Given the description of an element on the screen output the (x, y) to click on. 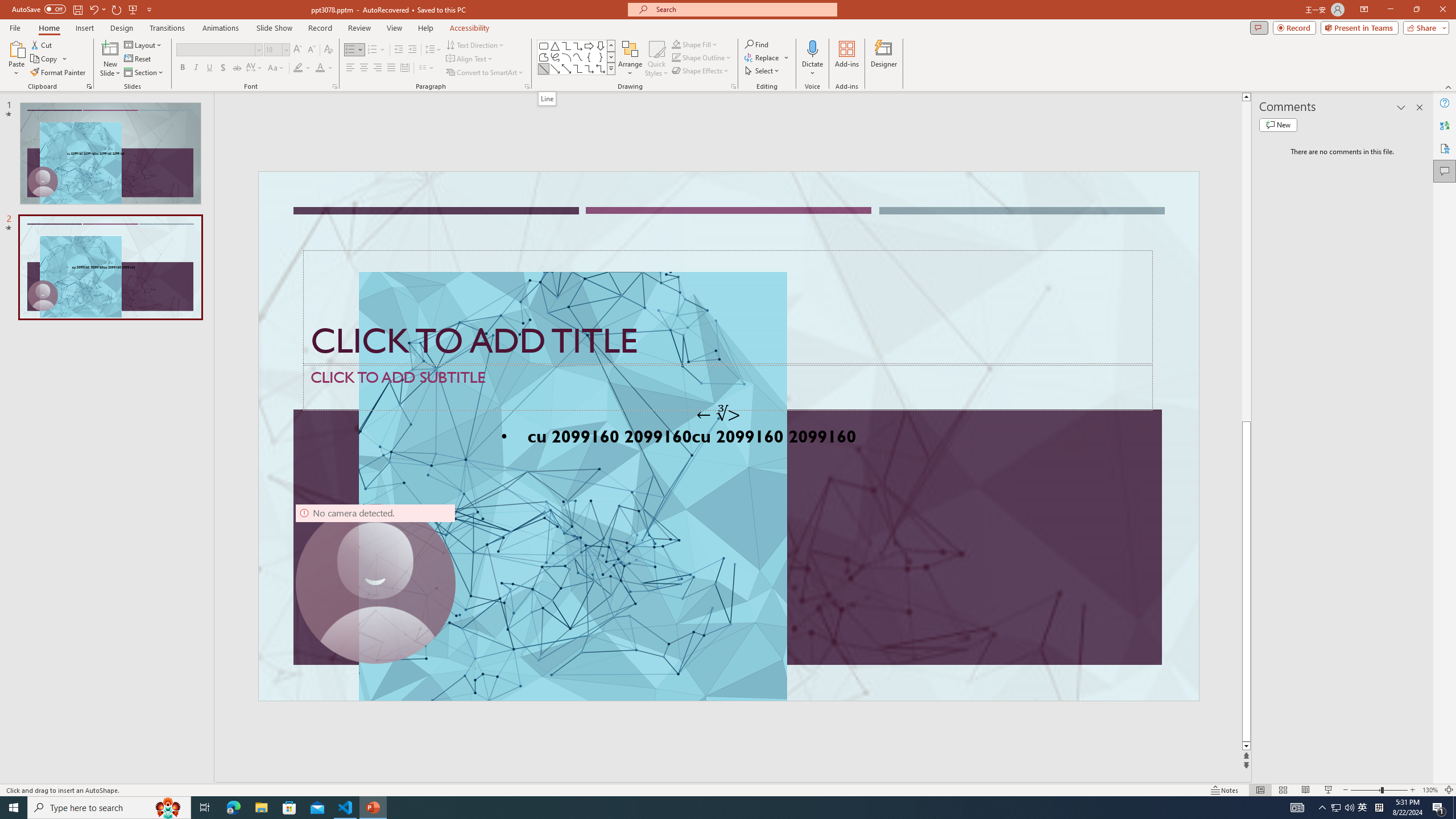
Center (363, 67)
Replace... (762, 56)
Cut (42, 44)
Home (48, 28)
Redo (117, 9)
Customize Quick Access Toolbar (149, 9)
Align Left (349, 67)
Dictate (812, 58)
Strikethrough (237, 67)
Transitions (167, 28)
Change Case (276, 67)
Clear Formatting (327, 49)
From Beginning (133, 9)
Text Highlight Color Yellow (297, 67)
More Options (812, 68)
